Given the description of an element on the screen output the (x, y) to click on. 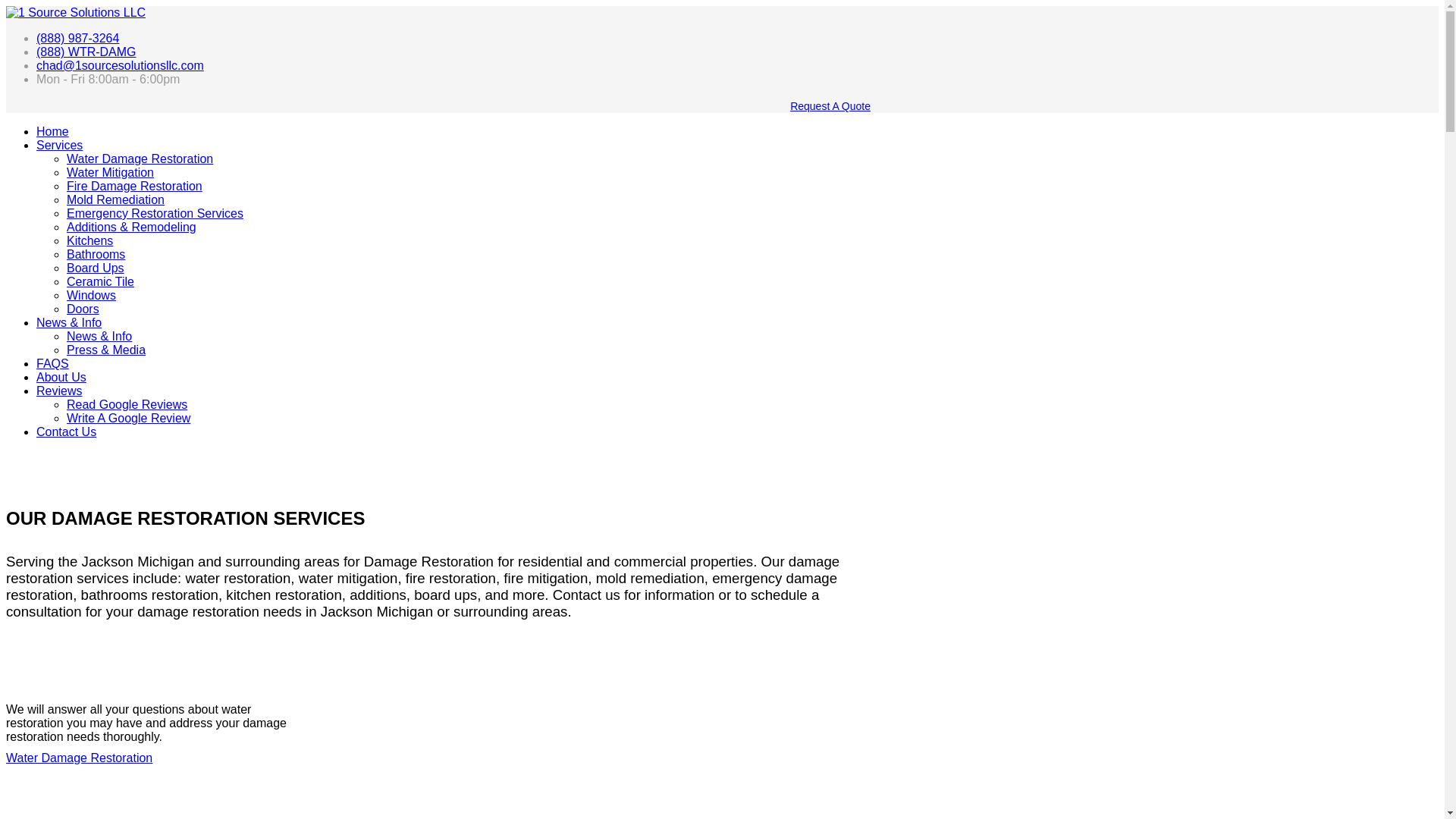
Write A Google Review Element type: text (128, 417)
News & Info Element type: text (98, 335)
Fire Damage Restoration Element type: text (134, 185)
(888) WTR-DAMG Element type: text (86, 51)
FAQS Element type: text (52, 363)
Request A Quote Element type: text (830, 106)
Services Element type: text (59, 144)
(888) 987-3264 Element type: text (77, 37)
Bathrooms Element type: text (95, 253)
Press & Media Element type: text (105, 349)
chad@1sourcesolutionsllc.com Element type: text (119, 65)
About Us Element type: text (61, 376)
Additions & Remodeling Element type: text (131, 226)
Contact Us Element type: text (66, 431)
Emergency Restoration Services Element type: text (154, 213)
Kitchens Element type: text (89, 240)
Ceramic Tile Element type: text (100, 281)
Water Damage Restoration Element type: text (83, 678)
Board Ups Element type: text (95, 267)
News & Info Element type: text (68, 322)
Water Damage Restoration Element type: text (139, 158)
Water Mitigation Element type: text (109, 172)
Doors Element type: text (82, 308)
Windows Element type: text (91, 294)
Water Damage Restoration Element type: text (79, 757)
Reviews Element type: text (58, 390)
Home Element type: text (52, 131)
Read Google Reviews Element type: text (126, 404)
Mold Remediation Element type: text (115, 199)
